Given the description of an element on the screen output the (x, y) to click on. 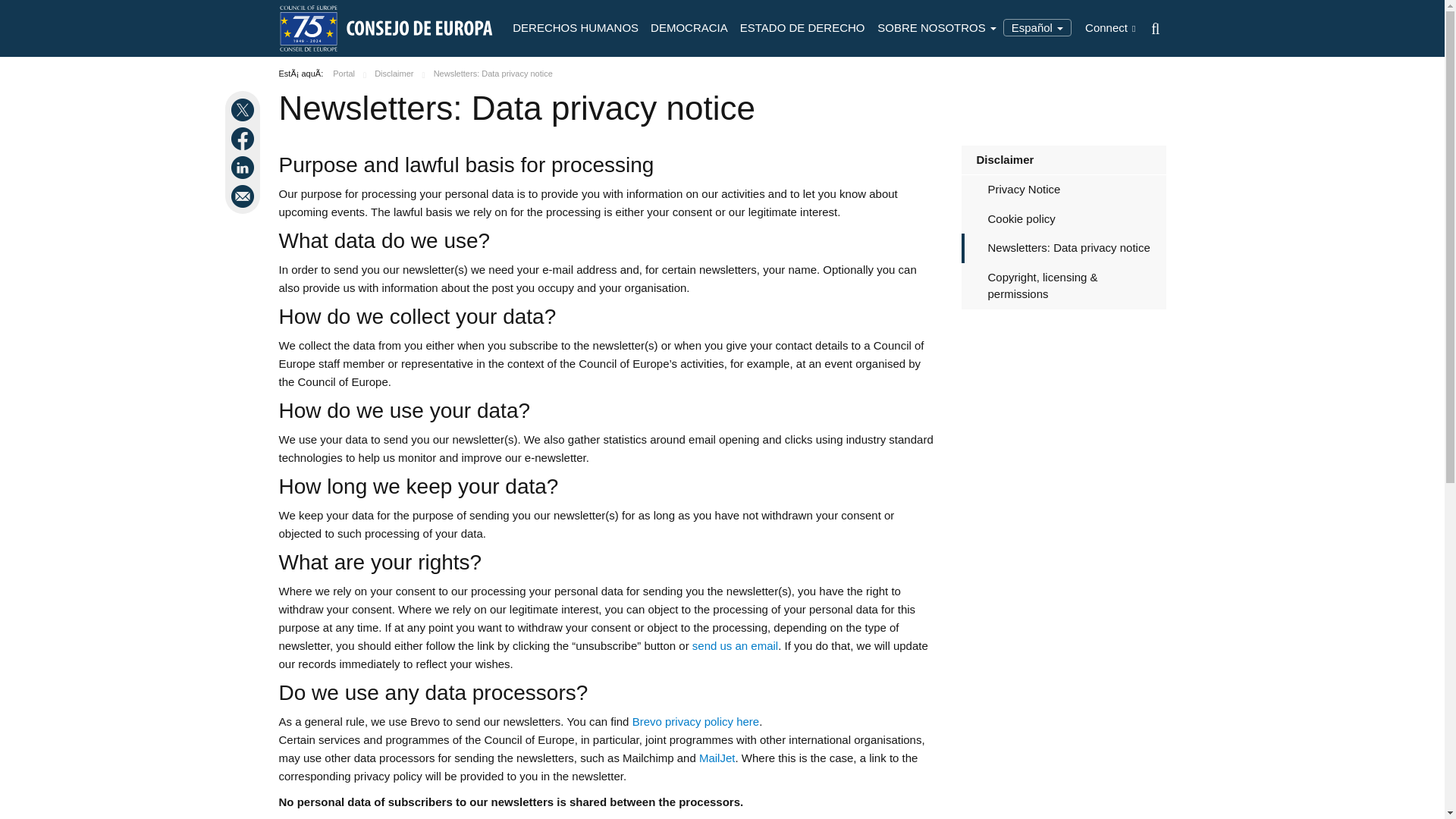
Share on Linkedin (244, 167)
ESTADO DE DERECHO (801, 28)
SOBRE NOSOTROS (936, 28)
DEMOCRACIA (689, 28)
Share on Facebook (244, 138)
DERECHOS HUMANOS (575, 28)
Send this page (244, 196)
